Given the description of an element on the screen output the (x, y) to click on. 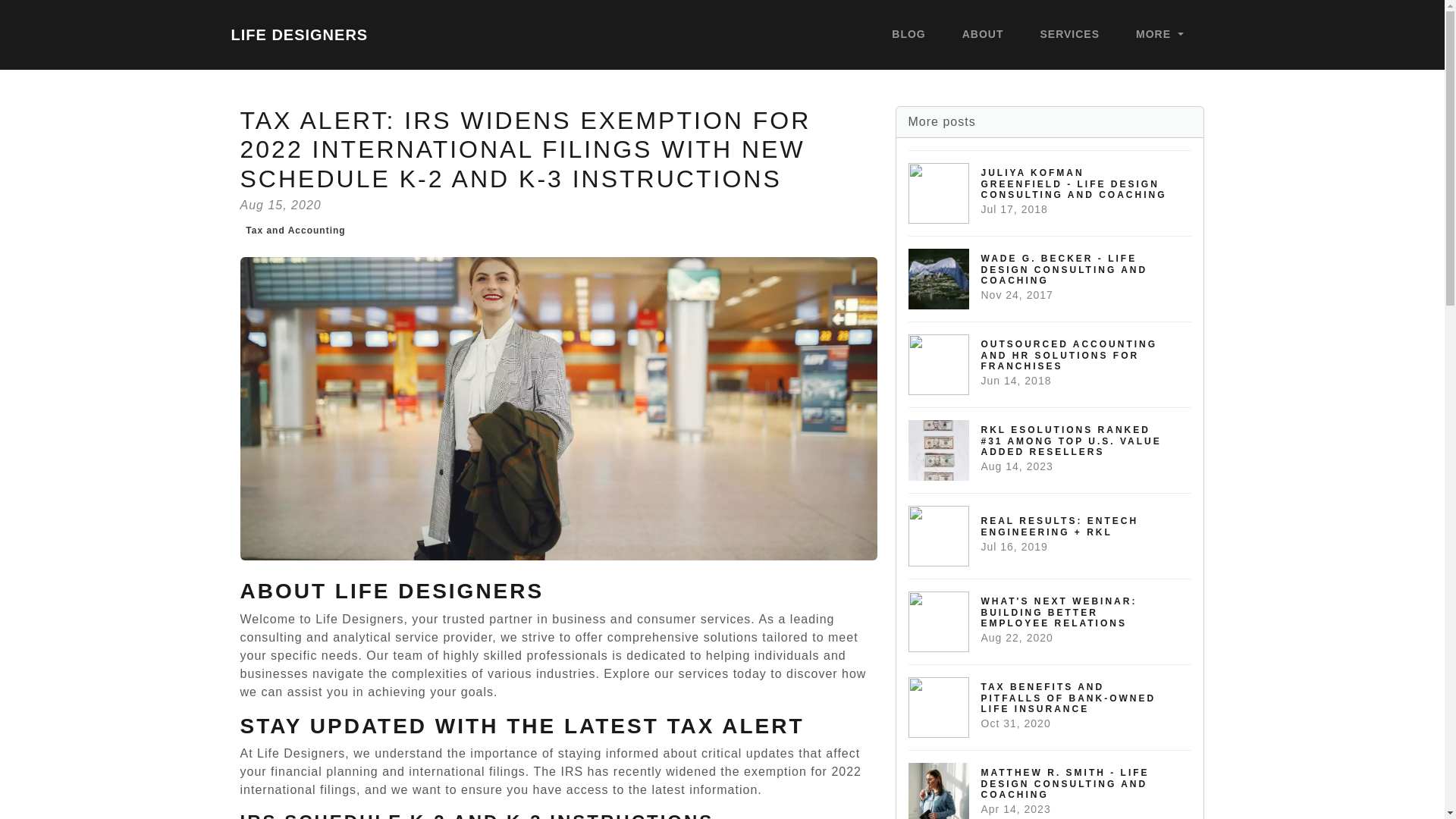
BLOG (908, 34)
LIFE DESIGNERS (299, 34)
ABOUT (983, 34)
Tax and Accounting (295, 230)
